Given the description of an element on the screen output the (x, y) to click on. 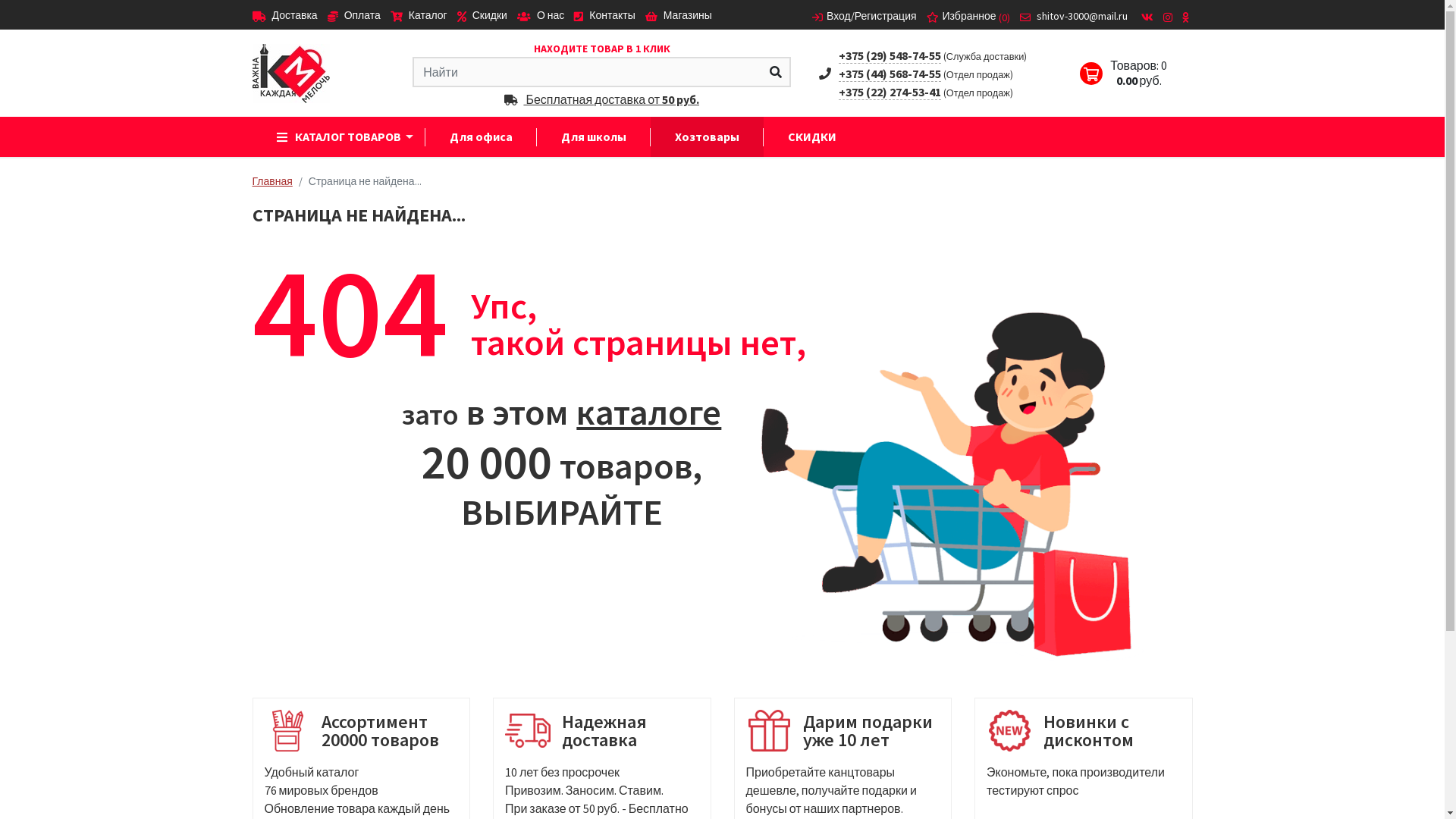
+375 (29) 548-74-55 Element type: text (889, 54)
shitov-3000@mail.ru Element type: text (1072, 16)
+375 (22) 274-53-41 Element type: text (889, 91)
+375 (44) 568-74-55 Element type: text (889, 73)
